Given the description of an element on the screen output the (x, y) to click on. 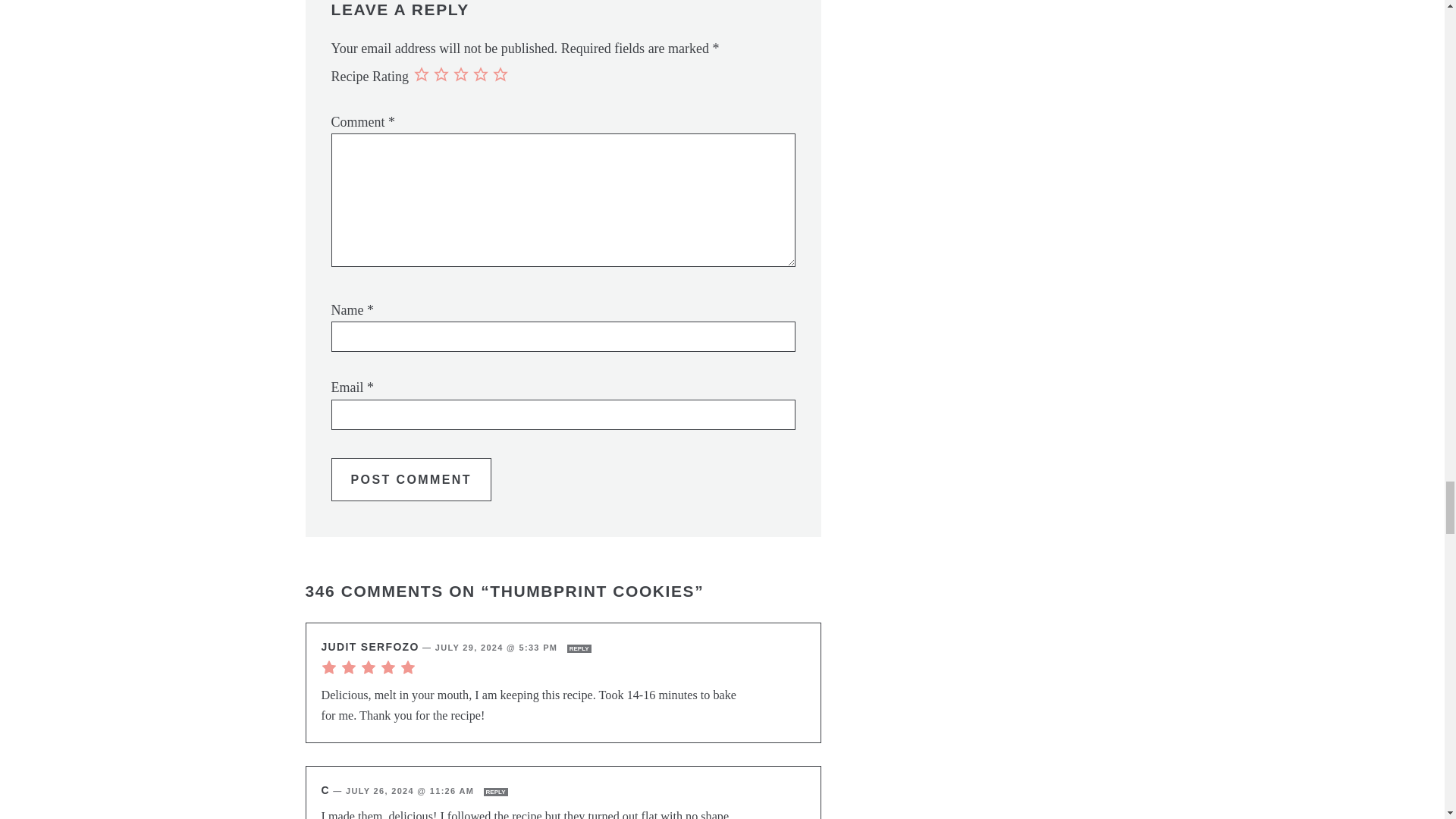
Post Comment (410, 479)
